Given the description of an element on the screen output the (x, y) to click on. 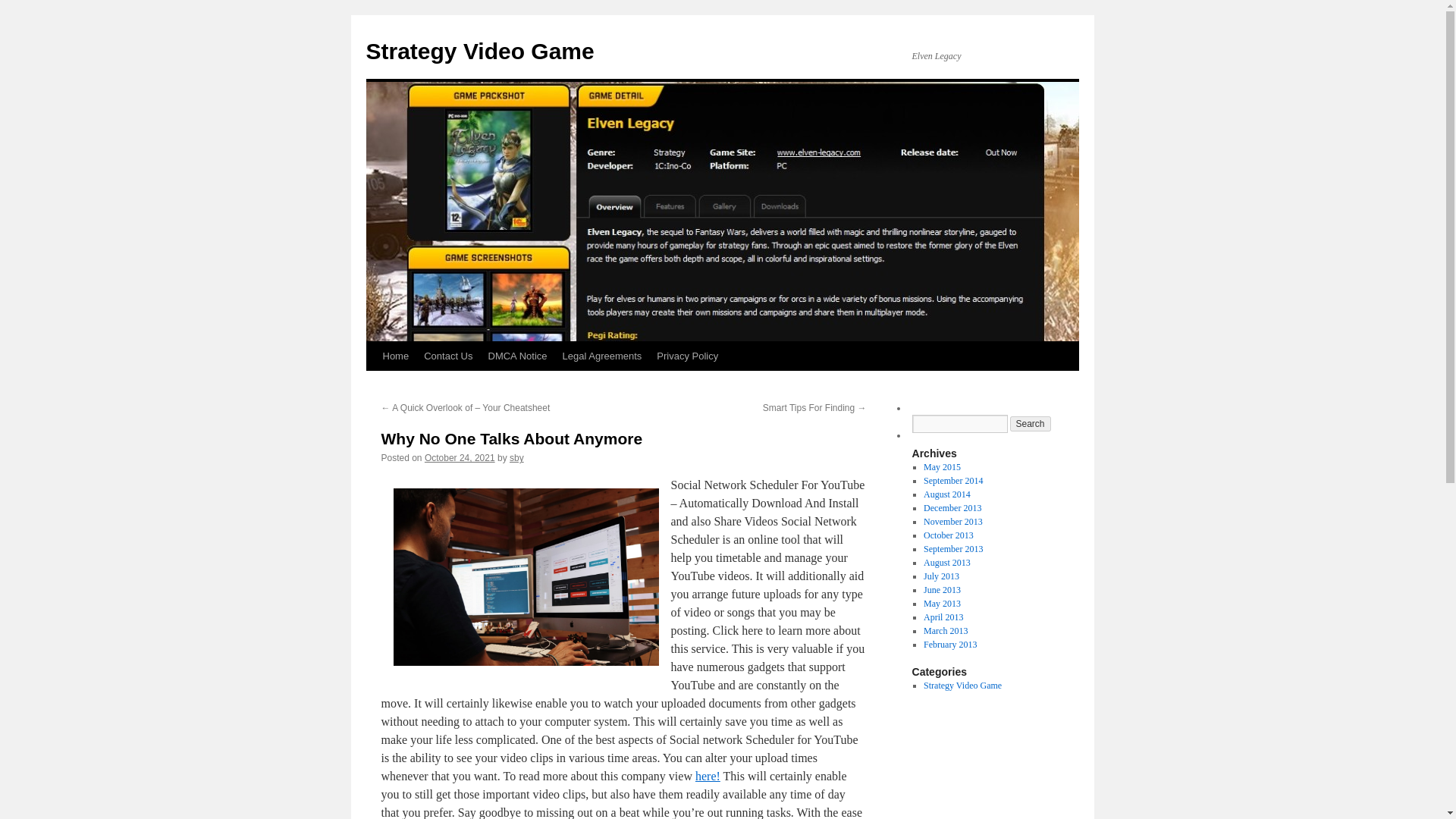
November 2013 (952, 521)
here! (707, 775)
October 2013 (948, 534)
sby (516, 457)
Strategy Video Game (479, 50)
September 2013 (952, 548)
View all posts by sby (516, 457)
DMCA Notice (517, 356)
View all posts filed under Strategy Video Game (962, 685)
December 2013 (952, 507)
Home (395, 356)
May 2013 (941, 603)
July 2013 (941, 575)
Strategy Video Game (962, 685)
June 2013 (941, 589)
